Given the description of an element on the screen output the (x, y) to click on. 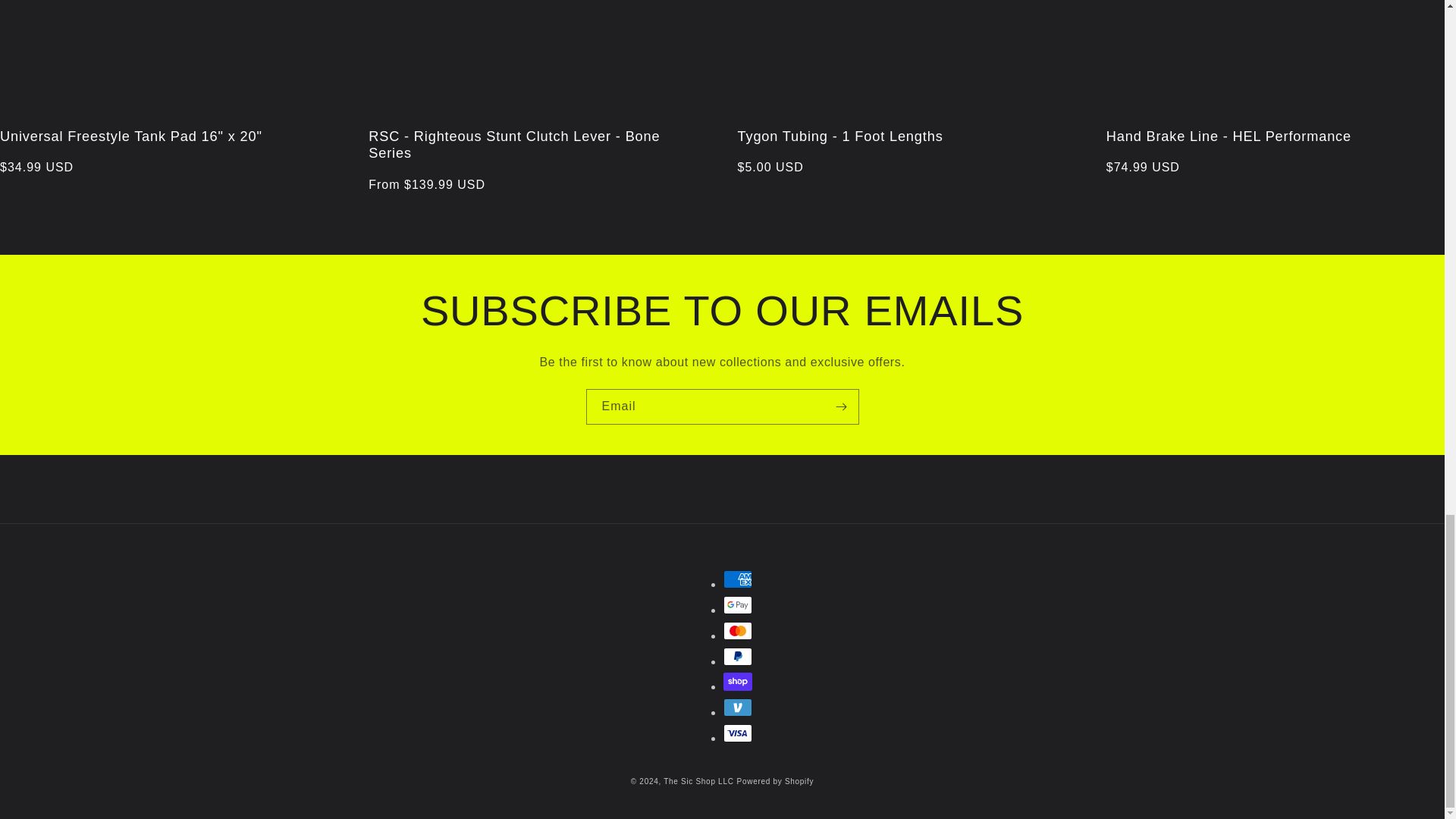
PayPal (737, 656)
Visa (737, 732)
Venmo (737, 707)
American Express (737, 579)
Shop Pay (737, 681)
Google Pay (737, 605)
Mastercard (737, 630)
